Given the description of an element on the screen output the (x, y) to click on. 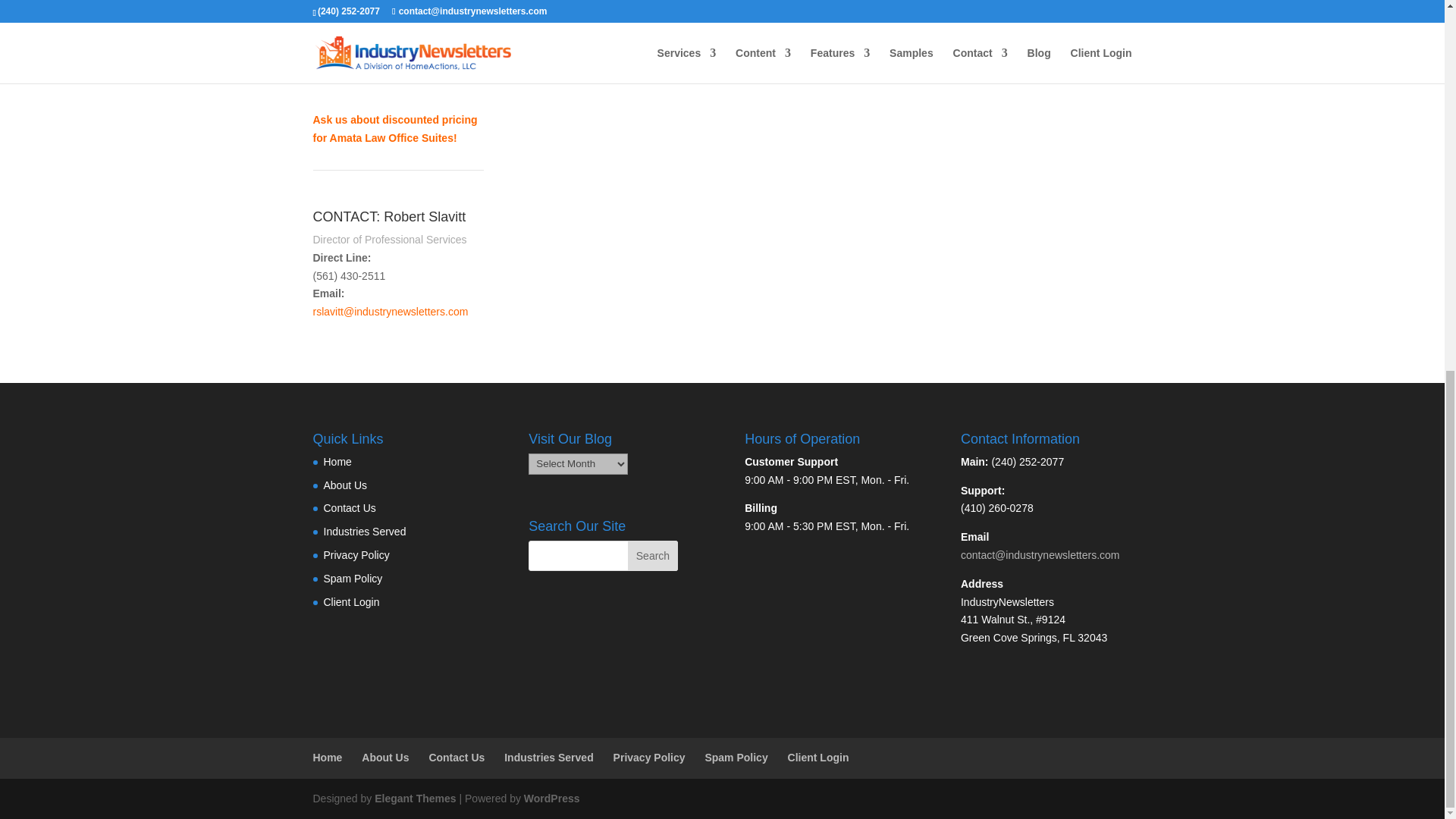
Search (652, 555)
Home (336, 461)
Premium WordPress Themes (414, 798)
